Given the description of an element on the screen output the (x, y) to click on. 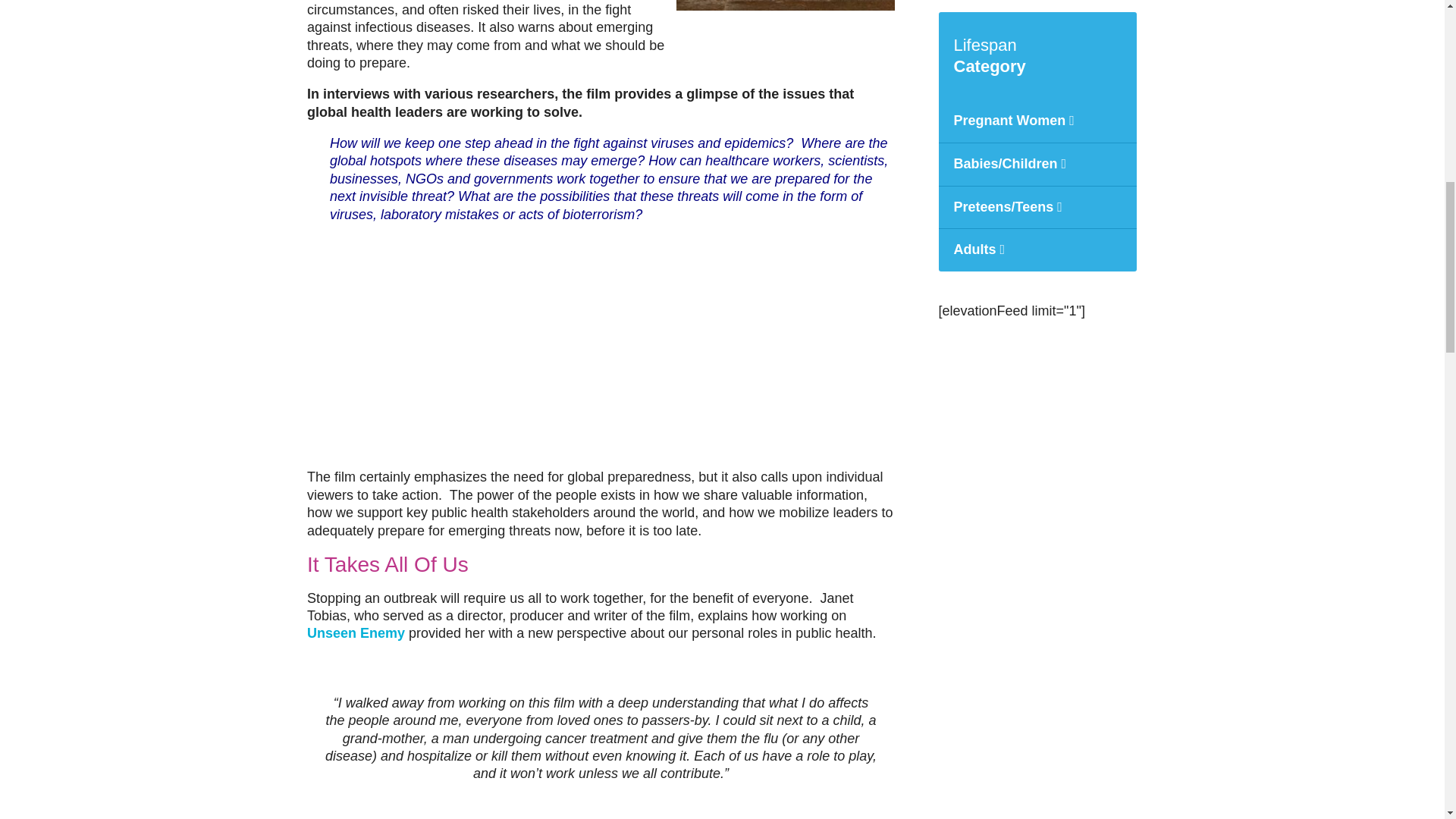
Pregnant Women (1038, 121)
Unseen Enemy (355, 632)
Adults (1038, 250)
"Unseen Enemy" Official Trailer (496, 343)
